Given the description of an element on the screen output the (x, y) to click on. 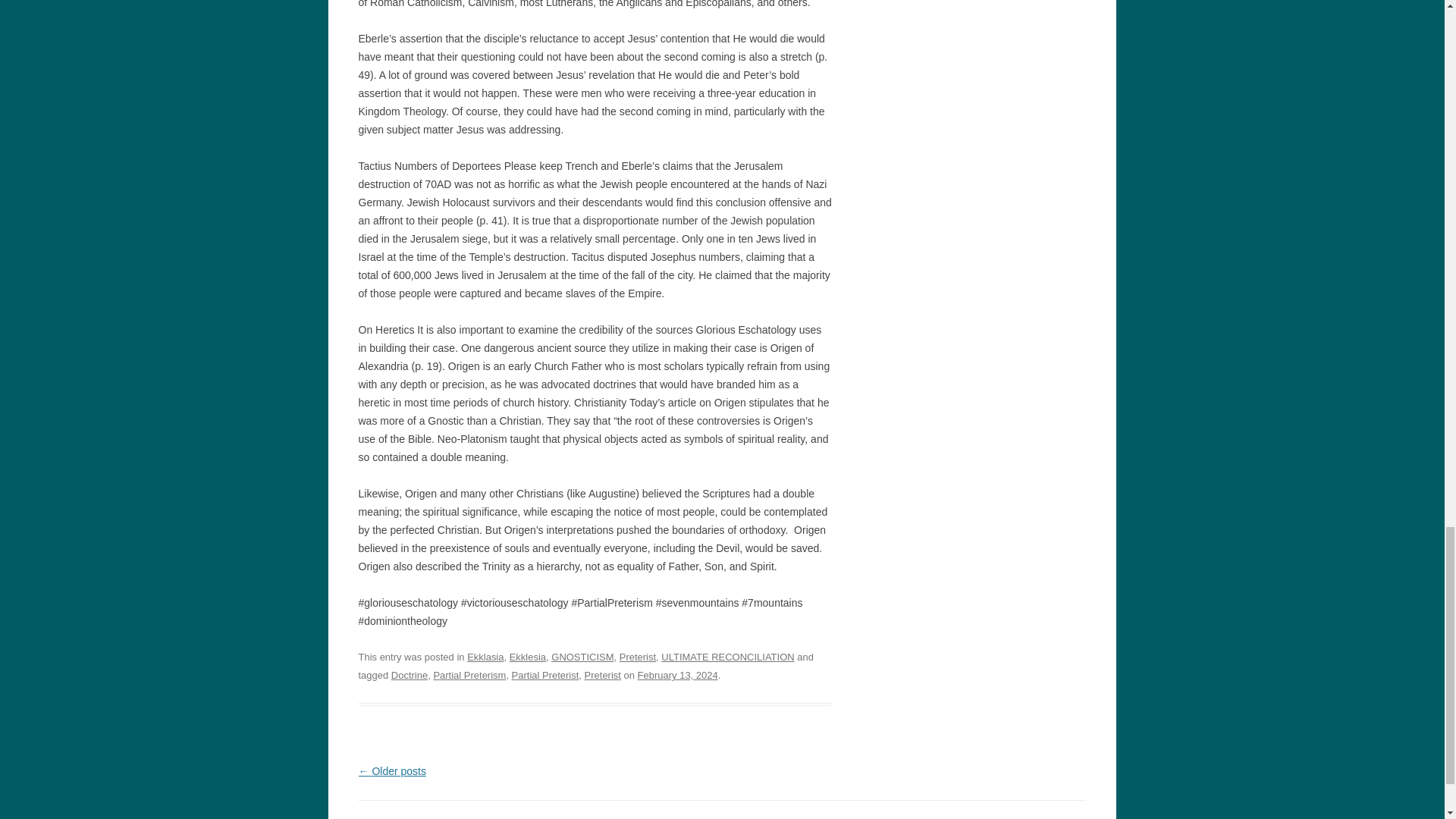
February 13, 2024 (677, 674)
Partial Preterist (545, 674)
Partial Preterism (468, 674)
ULTIMATE RECONCILIATION (727, 656)
Ekklesia (527, 656)
Preterist (638, 656)
GNOSTICISM (581, 656)
Ekklasia (485, 656)
9:00 am (677, 674)
Doctrine (409, 674)
